Given the description of an element on the screen output the (x, y) to click on. 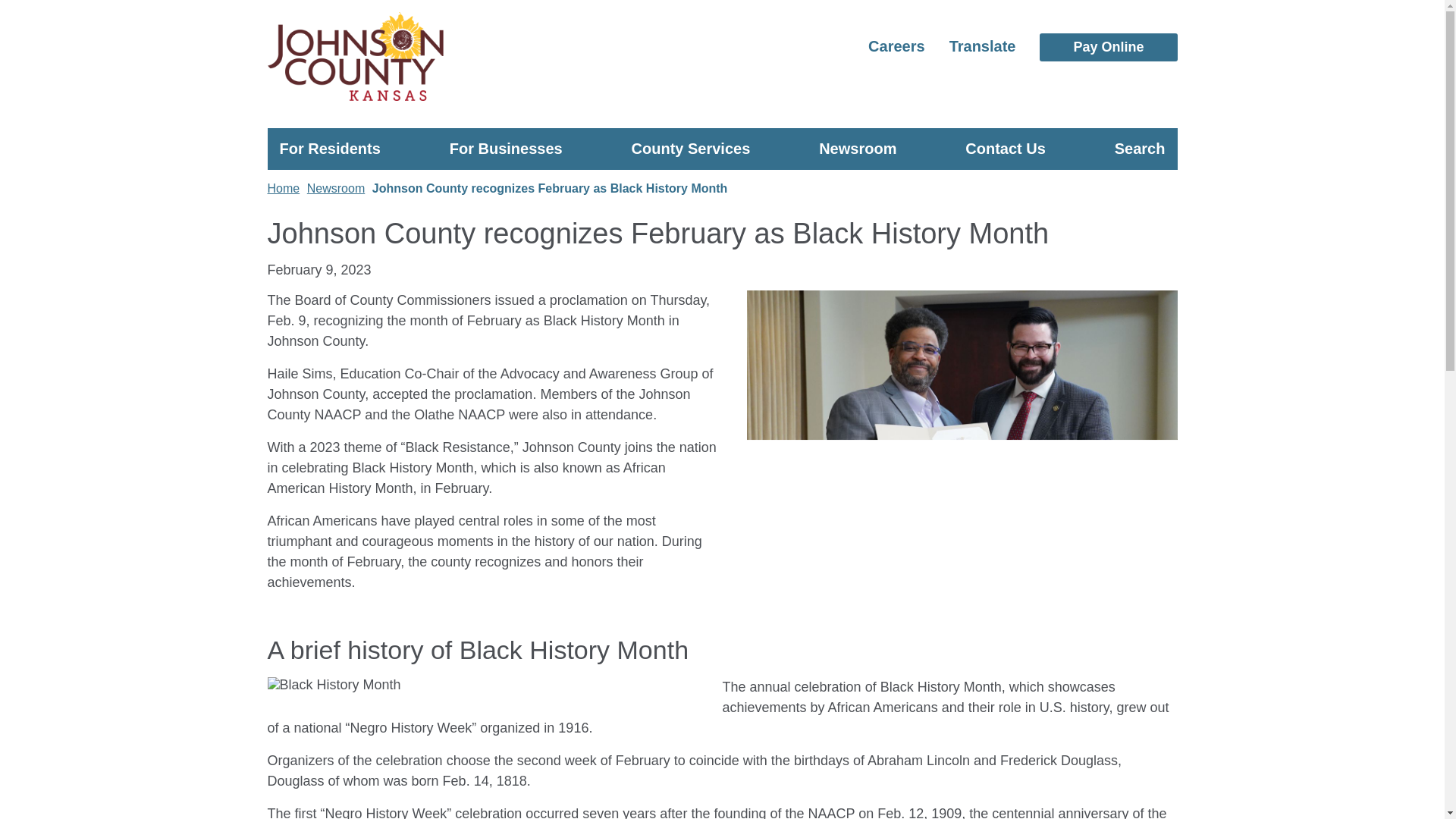
County Services (691, 145)
Newsroom Hub (912, 191)
For Businesses (505, 145)
For Businesses Overview (610, 191)
Contact Johnson County (1086, 191)
Newsroom (857, 145)
For Residents (329, 145)
For Residents Overview (486, 191)
List of County Services (779, 191)
